Given the description of an element on the screen output the (x, y) to click on. 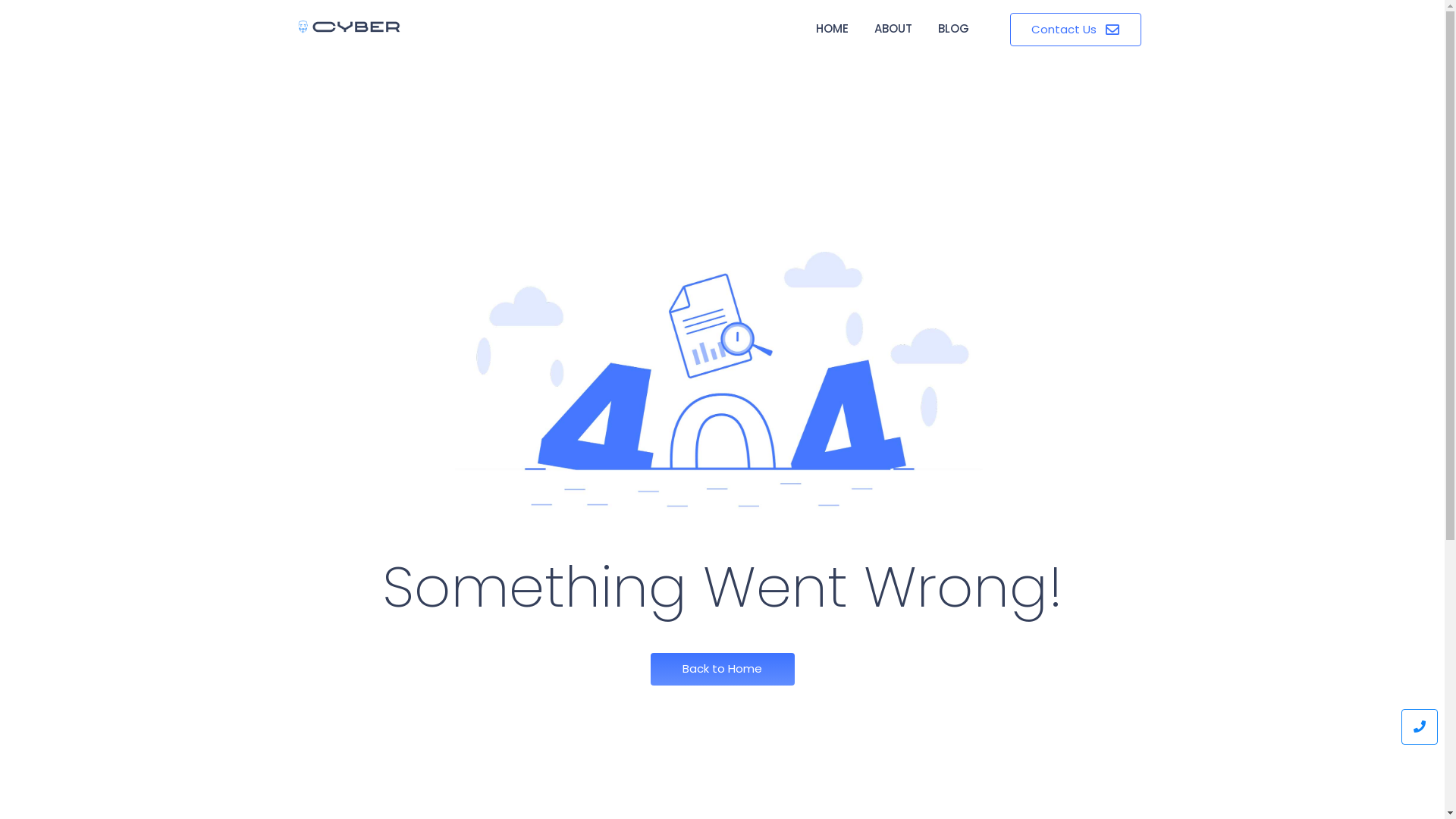
BLOG Element type: text (953, 29)
Contact Us Element type: text (1075, 29)
ABOUT Element type: text (893, 29)
HOME Element type: text (831, 29)
Back to Home Element type: text (722, 668)
